Given the description of an element on the screen output the (x, y) to click on. 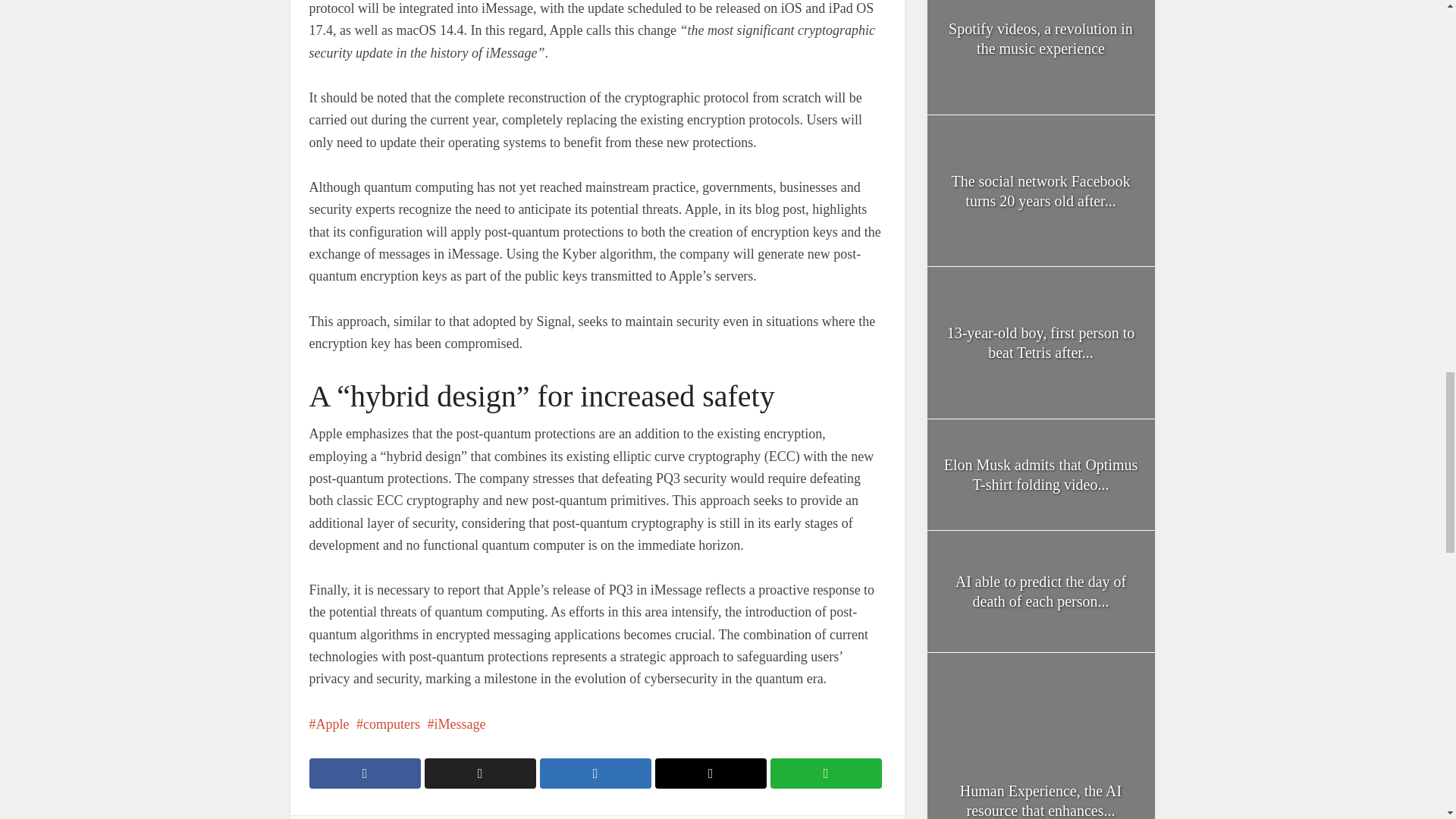
13-year-old boy, first person to beat Tetris after an AI (1041, 342)
iMessage (455, 724)
13-year-old boy, first person to beat Tetris after an AI (1040, 342)
Spotify videos, a revolution in the music experience (1040, 38)
Apple (328, 724)
Spotify videos, a revolution in the music experience (1040, 57)
computers (388, 724)
